Given the description of an element on the screen output the (x, y) to click on. 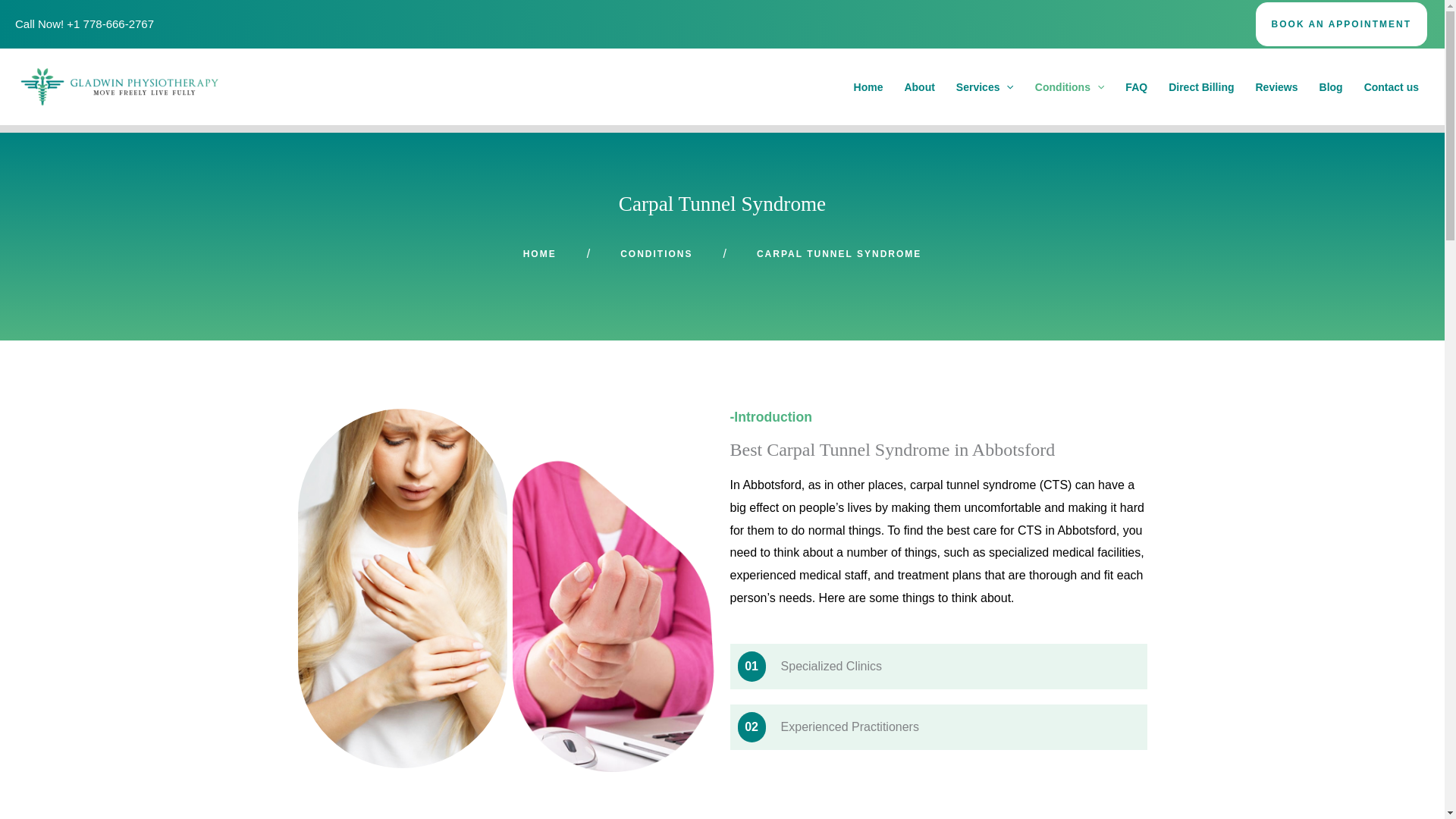
Home (868, 86)
Contact us (1391, 86)
About (918, 86)
BOOK AN APPOINTMENT (1341, 23)
Reviews (1276, 86)
Conditions (1070, 86)
Services (984, 86)
Direct Billing (1200, 86)
